Given the description of an element on the screen output the (x, y) to click on. 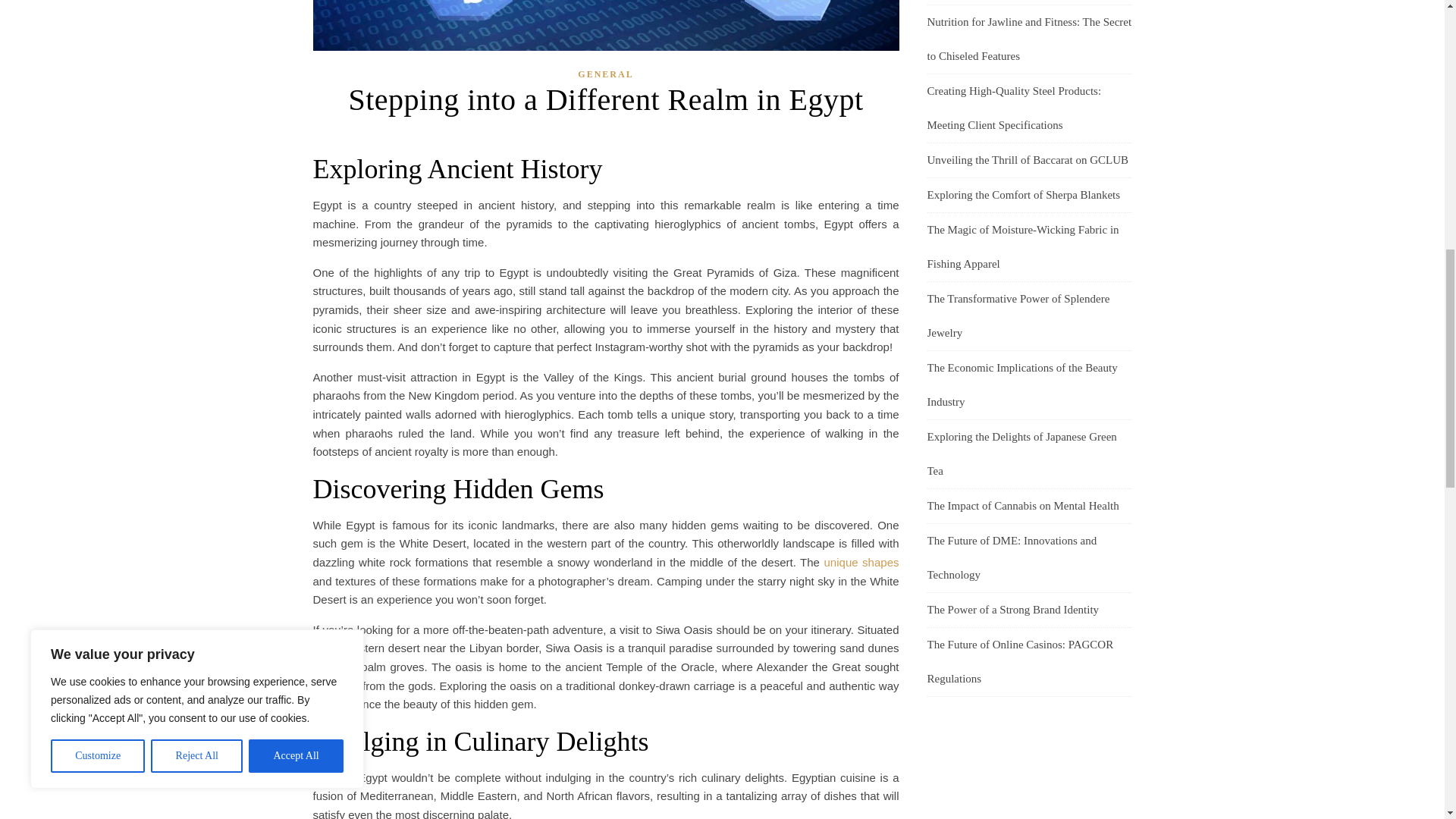
unique shapes (861, 562)
GENERAL (605, 74)
